Given the description of an element on the screen output the (x, y) to click on. 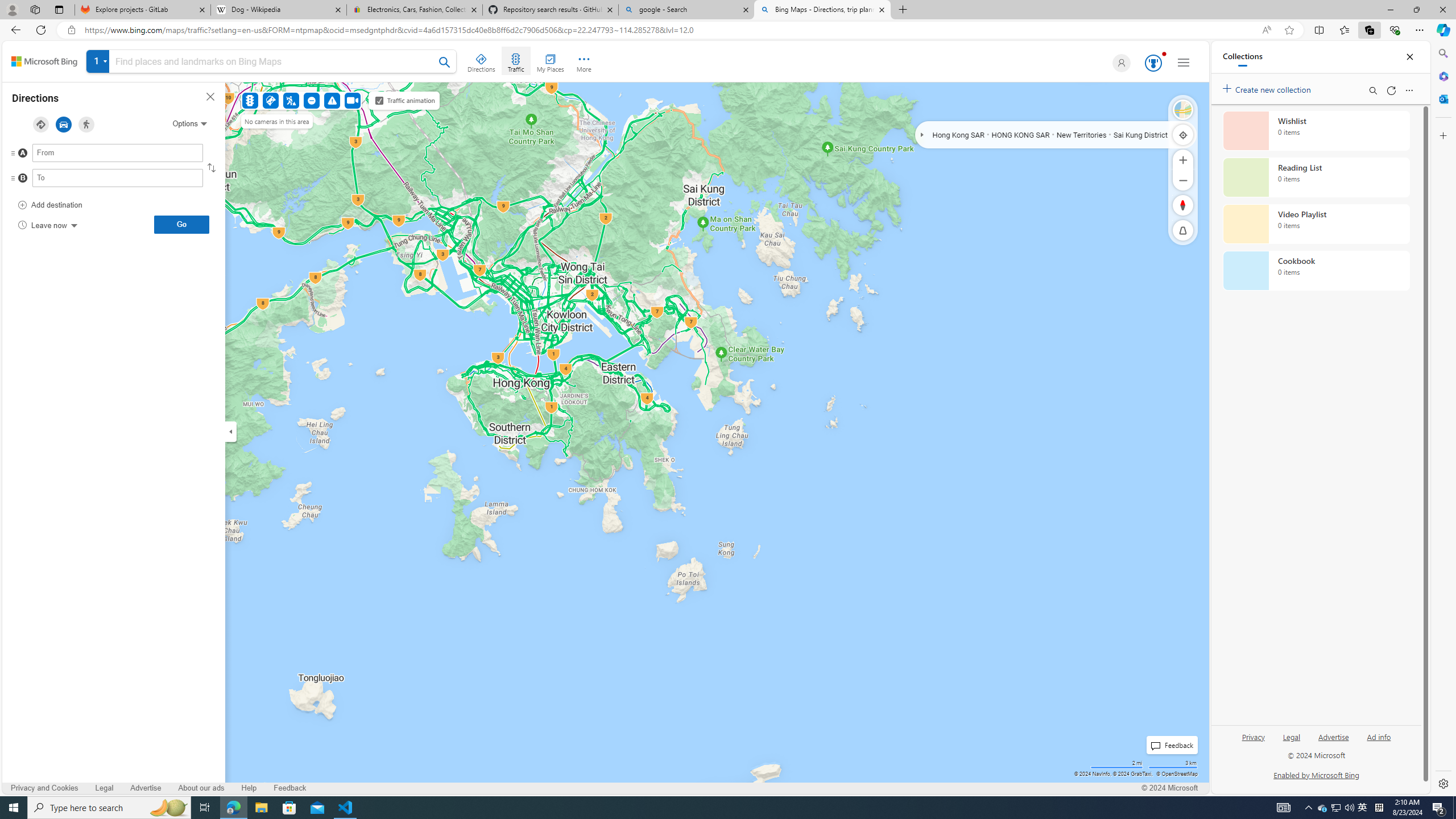
Minimize (1390, 9)
Ad info (1378, 736)
Personal Profile (12, 9)
More (583, 60)
Construction (290, 100)
Favorites (1344, 29)
Collections (1369, 29)
Tab actions menu (58, 9)
Class: sbElement (43, 60)
To (117, 177)
App bar (728, 29)
More (583, 60)
Copilot (Ctrl+Shift+.) (1442, 29)
Microsoft Rewards 63 (1152, 63)
Search (1442, 53)
